Given the description of an element on the screen output the (x, y) to click on. 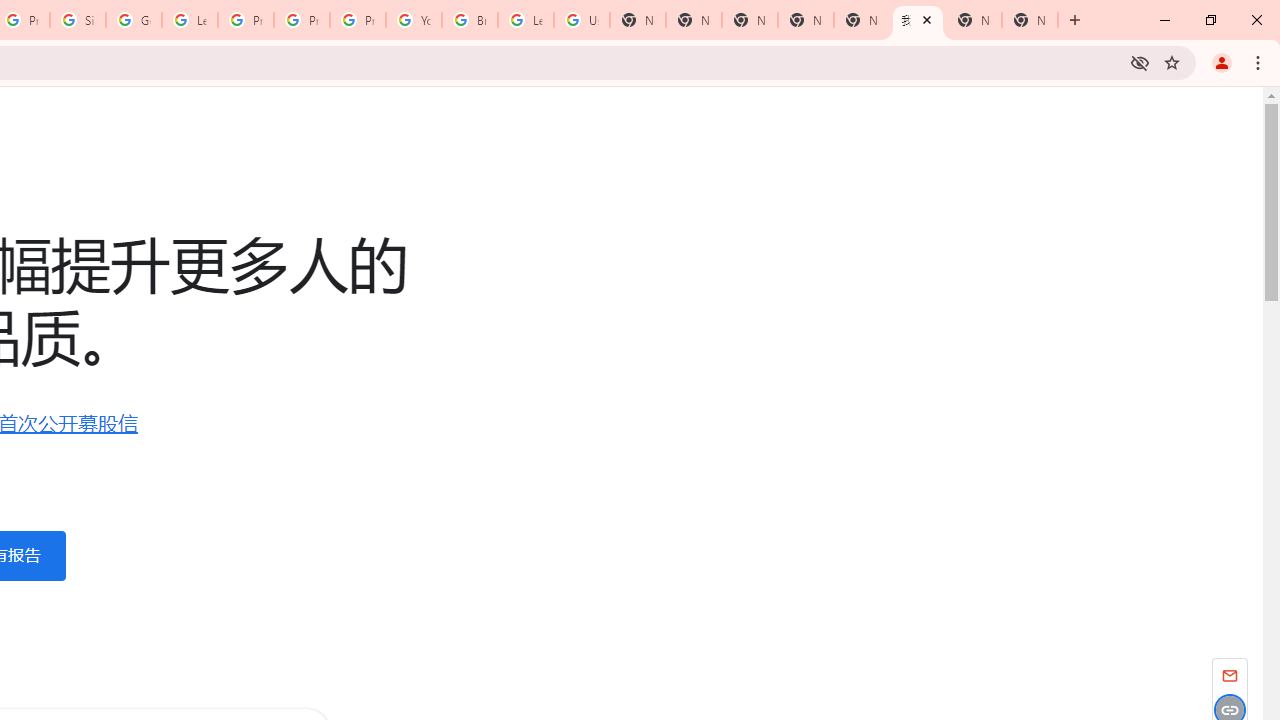
YouTube (413, 20)
New Tab (1030, 20)
New Tab (749, 20)
Privacy Help Center - Policies Help (245, 20)
